Given the description of an element on the screen output the (x, y) to click on. 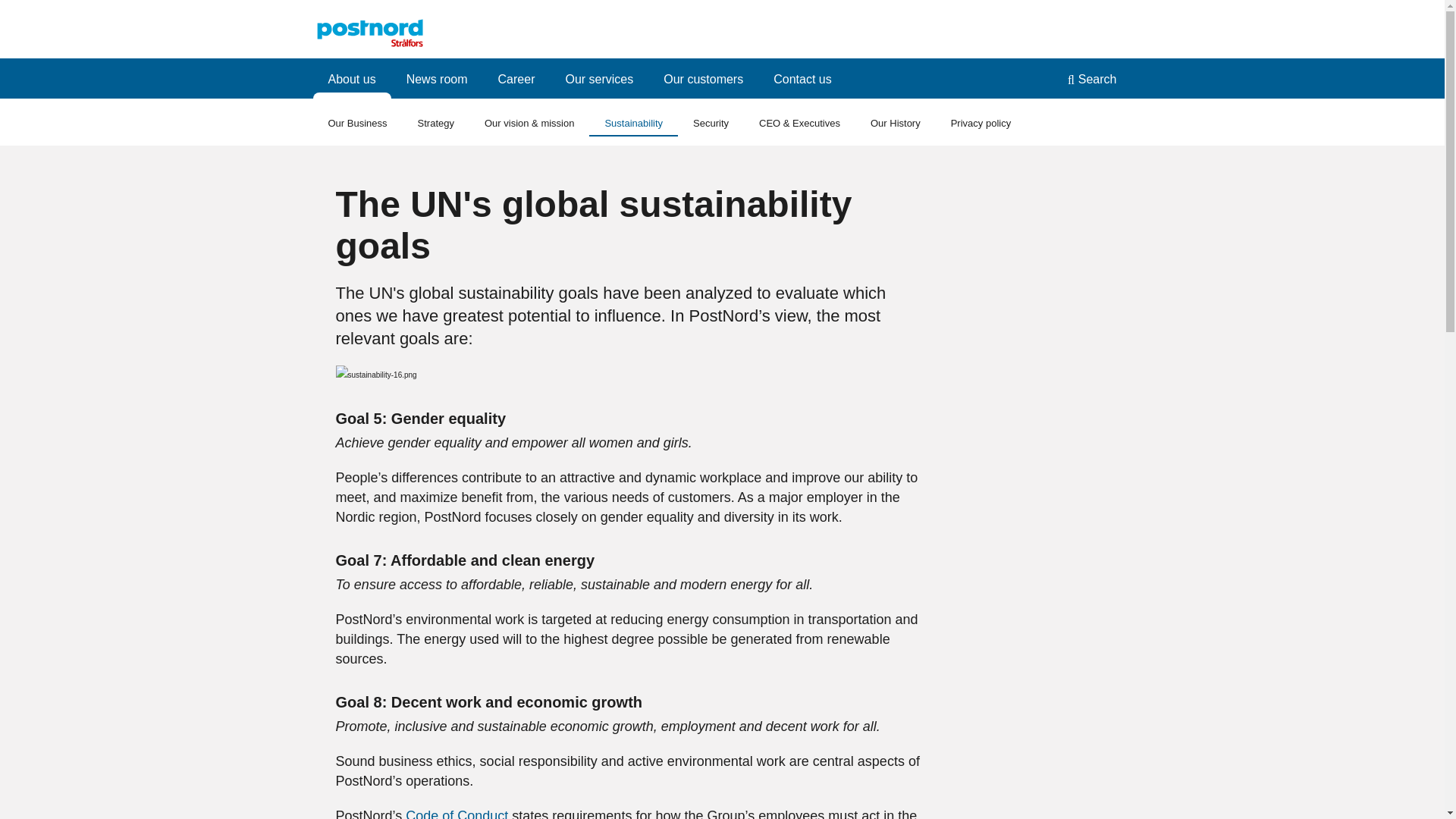
Sustainability (633, 121)
Our services (598, 78)
About us (351, 78)
News room (437, 78)
Career (516, 78)
Our History (896, 121)
Strategy (435, 121)
Our Business (357, 121)
Privacy policy (981, 121)
Our customers (702, 78)
